Given the description of an element on the screen output the (x, y) to click on. 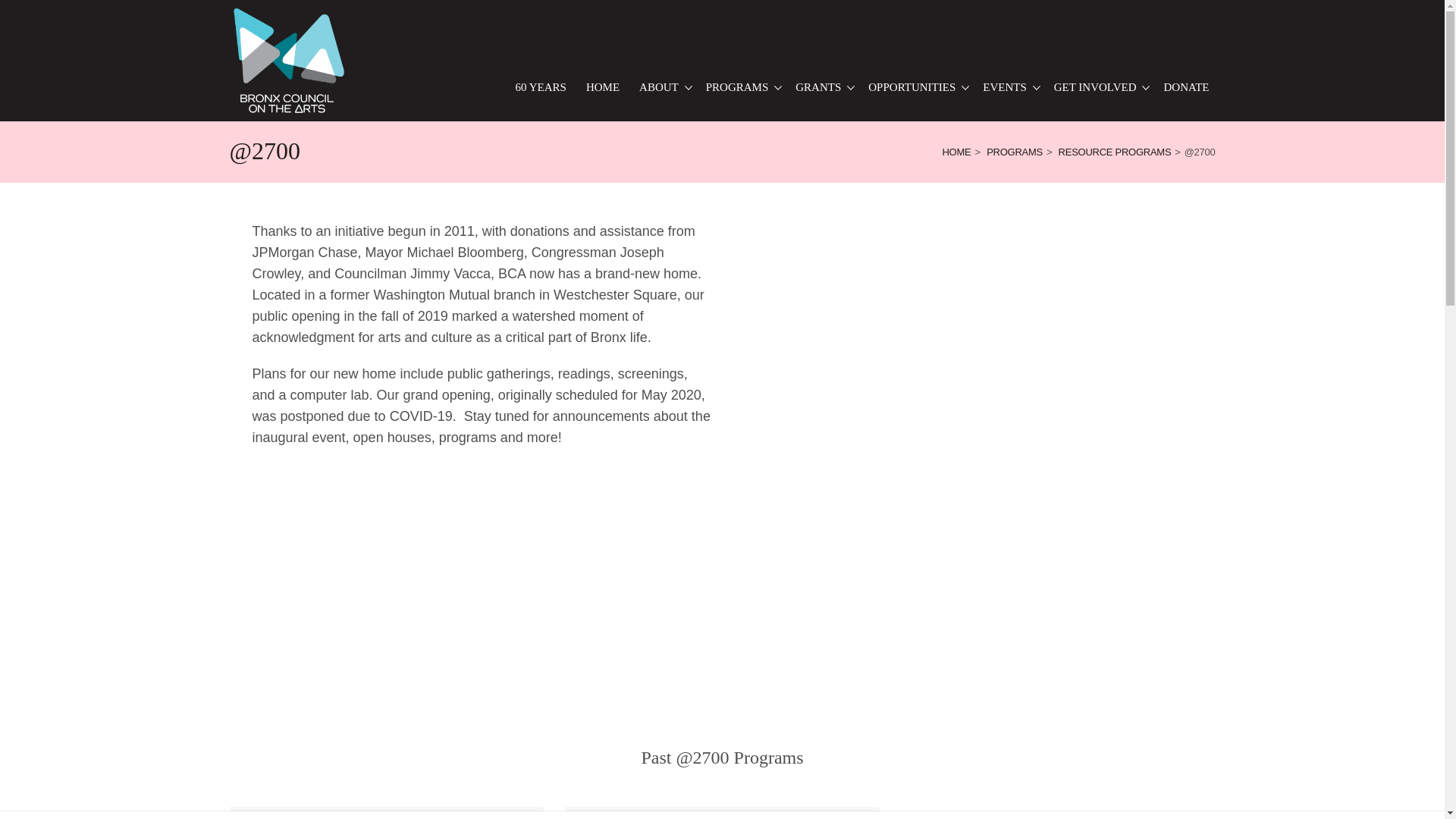
GRANTS (821, 87)
OPPORTUNITIES (915, 87)
60 YEARS (540, 87)
PROGRAMS (741, 87)
